Given the description of an element on the screen output the (x, y) to click on. 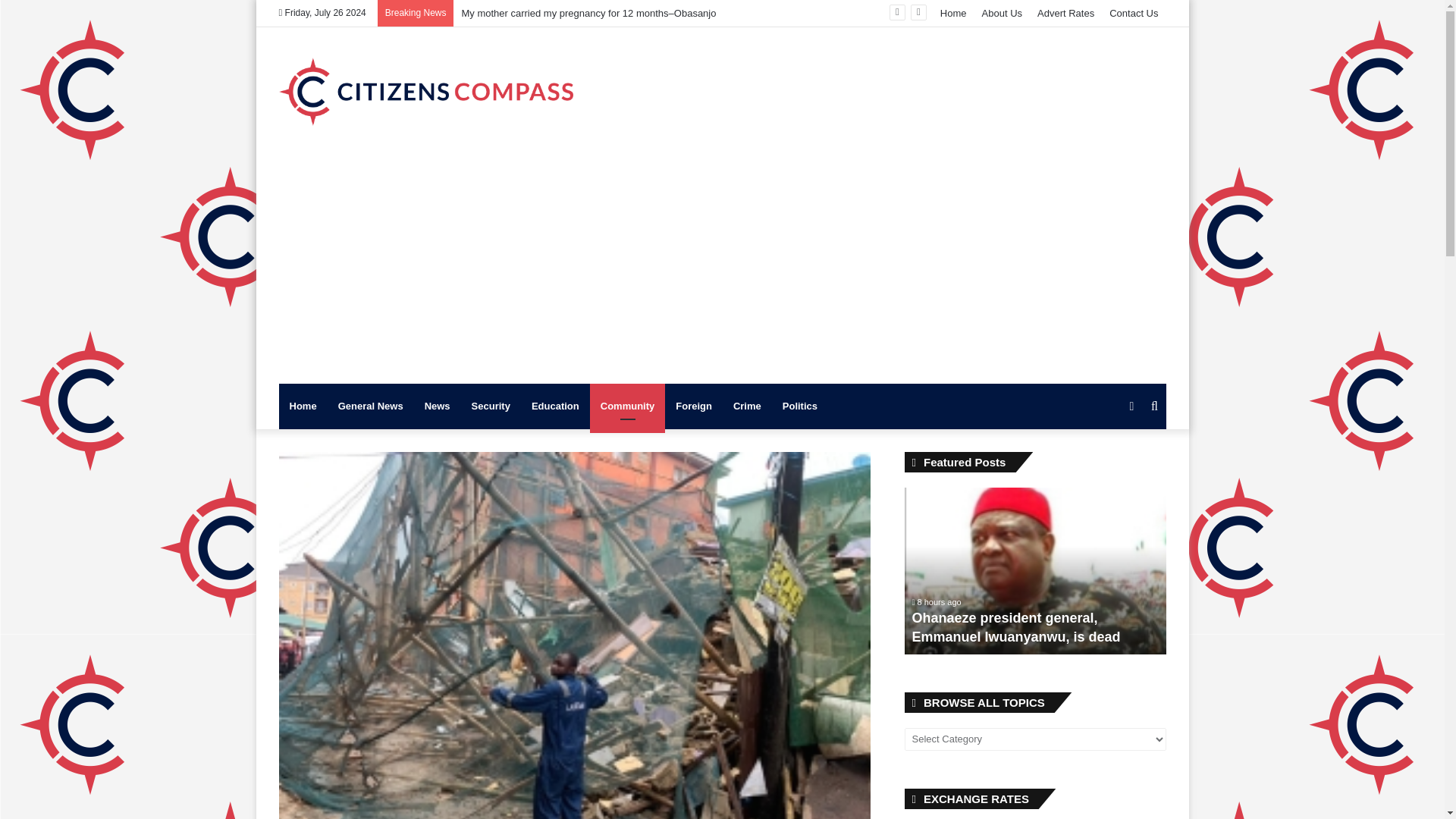
Politics (799, 406)
News (437, 406)
About Us (1001, 13)
Crime (746, 406)
Advert Rates (1065, 13)
Education (555, 406)
Home (953, 13)
Security (491, 406)
Home (303, 406)
General News (370, 406)
Contact Us (1134, 13)
Citizens Compass (426, 91)
Foreign (693, 406)
Community (627, 406)
